Given the description of an element on the screen output the (x, y) to click on. 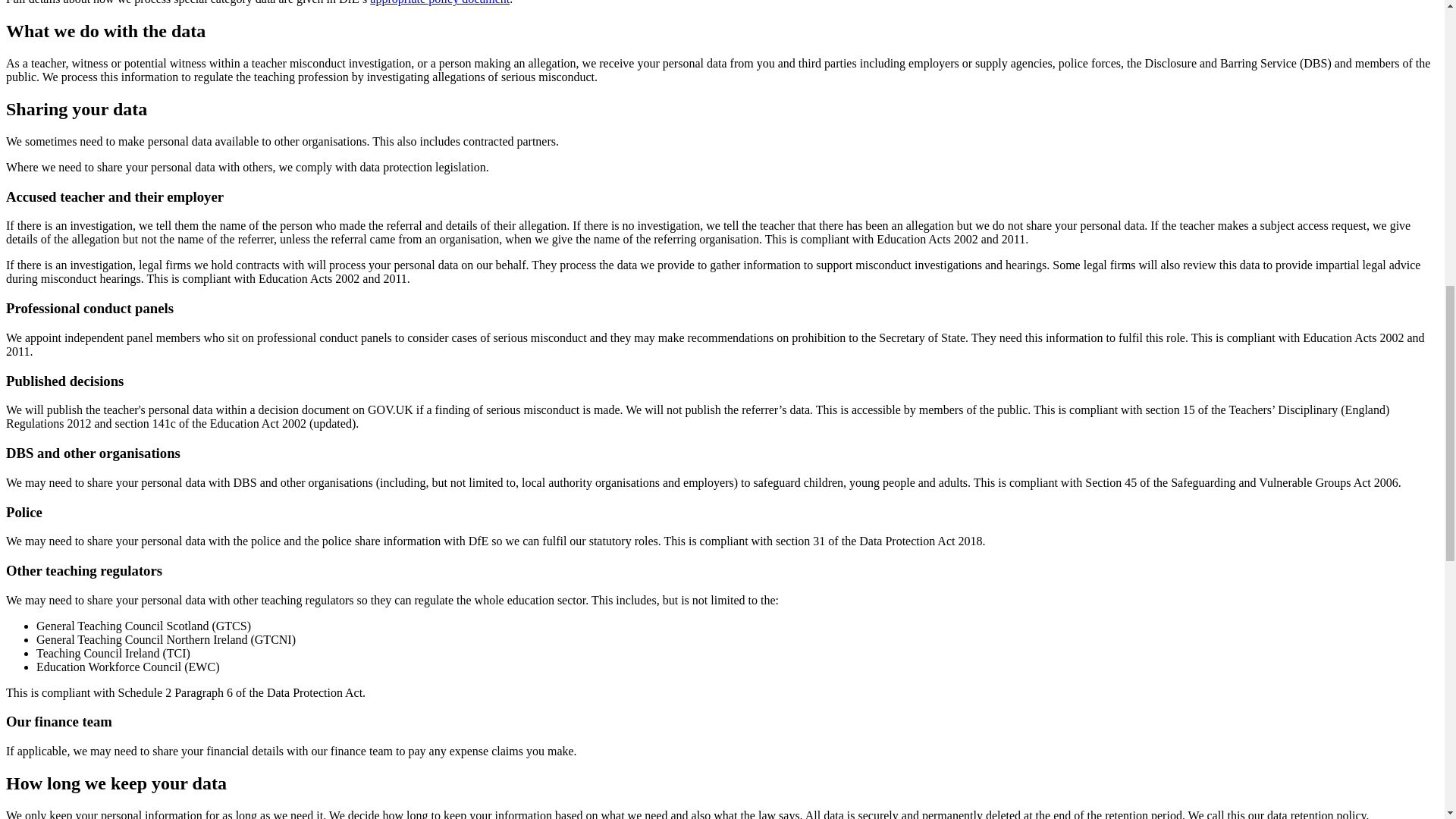
appropriate policy document (439, 2)
